Given the description of an element on the screen output the (x, y) to click on. 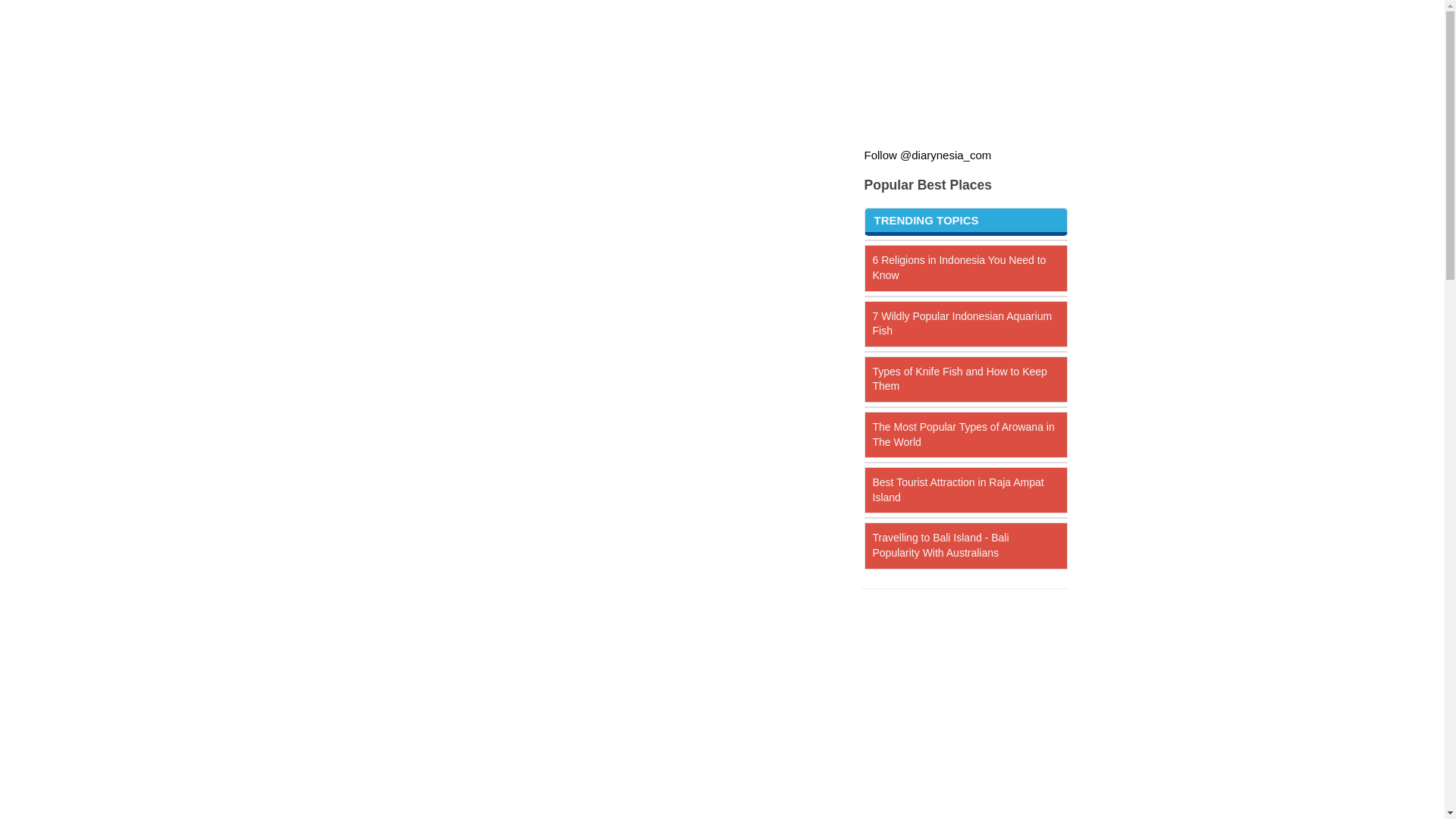
7 Wildly Popular Indonesian Aquarium Fish (961, 323)
The Most Popular Types of Arowana in The World (963, 433)
Types of Knife Fish and How to Keep Them (959, 379)
Travelling to Bali Island - Bali Popularity With Australians (940, 544)
6 Religions in Indonesia You Need to Know (958, 267)
Best Tourist Attraction in Raja Ampat Island (957, 489)
